Given the description of an element on the screen output the (x, y) to click on. 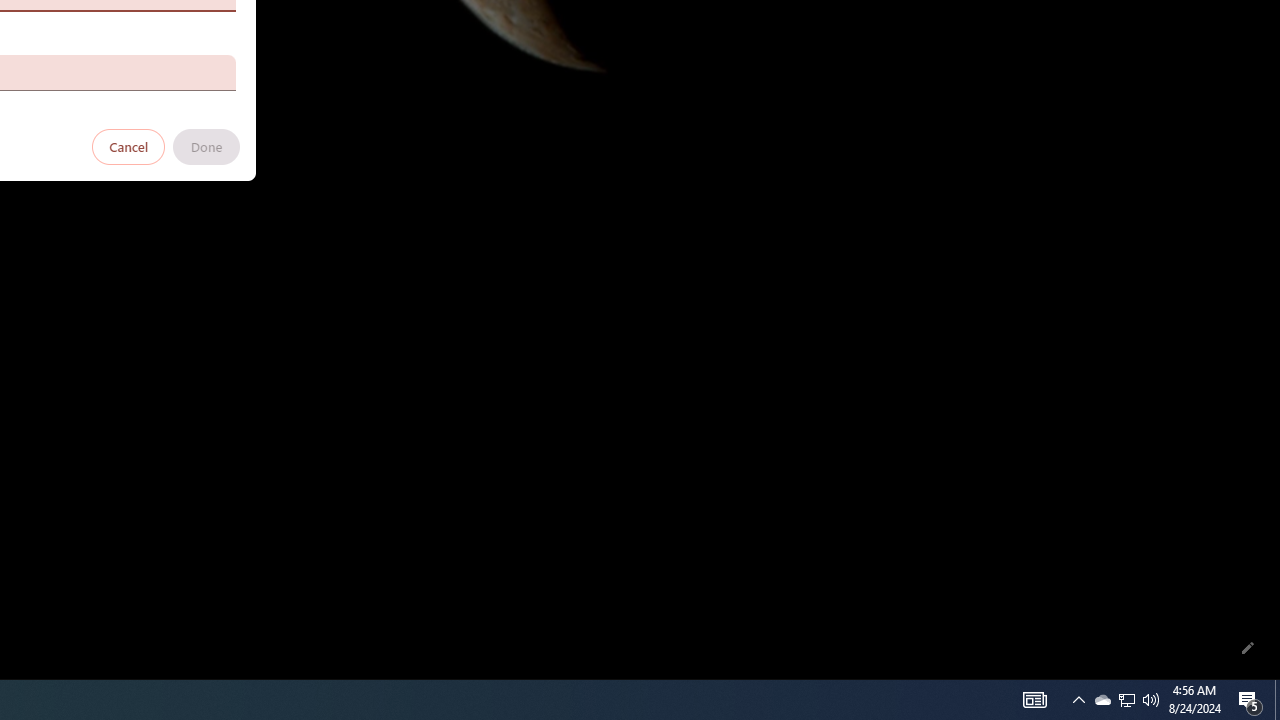
Cancel (129, 146)
Done (206, 146)
